Given the description of an element on the screen output the (x, y) to click on. 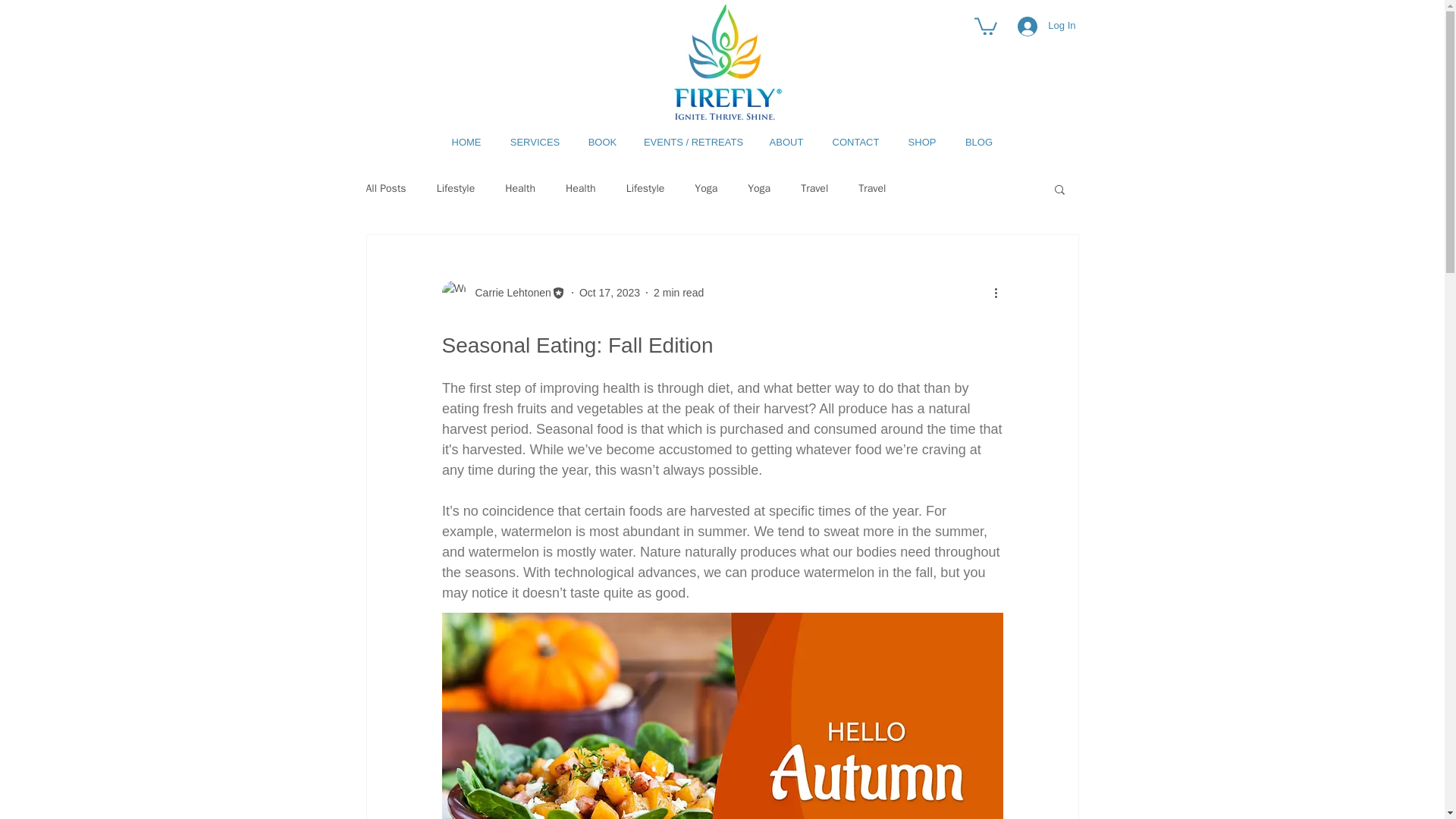
Yoga (705, 188)
CONTACT (854, 142)
Log In (1046, 26)
Travel (872, 188)
SERVICES (535, 142)
BOOK (602, 142)
All Posts (385, 188)
Lifestyle (645, 188)
Oct 17, 2023 (609, 292)
Travel (814, 188)
Health (520, 188)
BLOG (978, 142)
Carrie Lehtonen (507, 293)
Carrie Lehtonen (502, 292)
2 min read (678, 292)
